Given the description of an element on the screen output the (x, y) to click on. 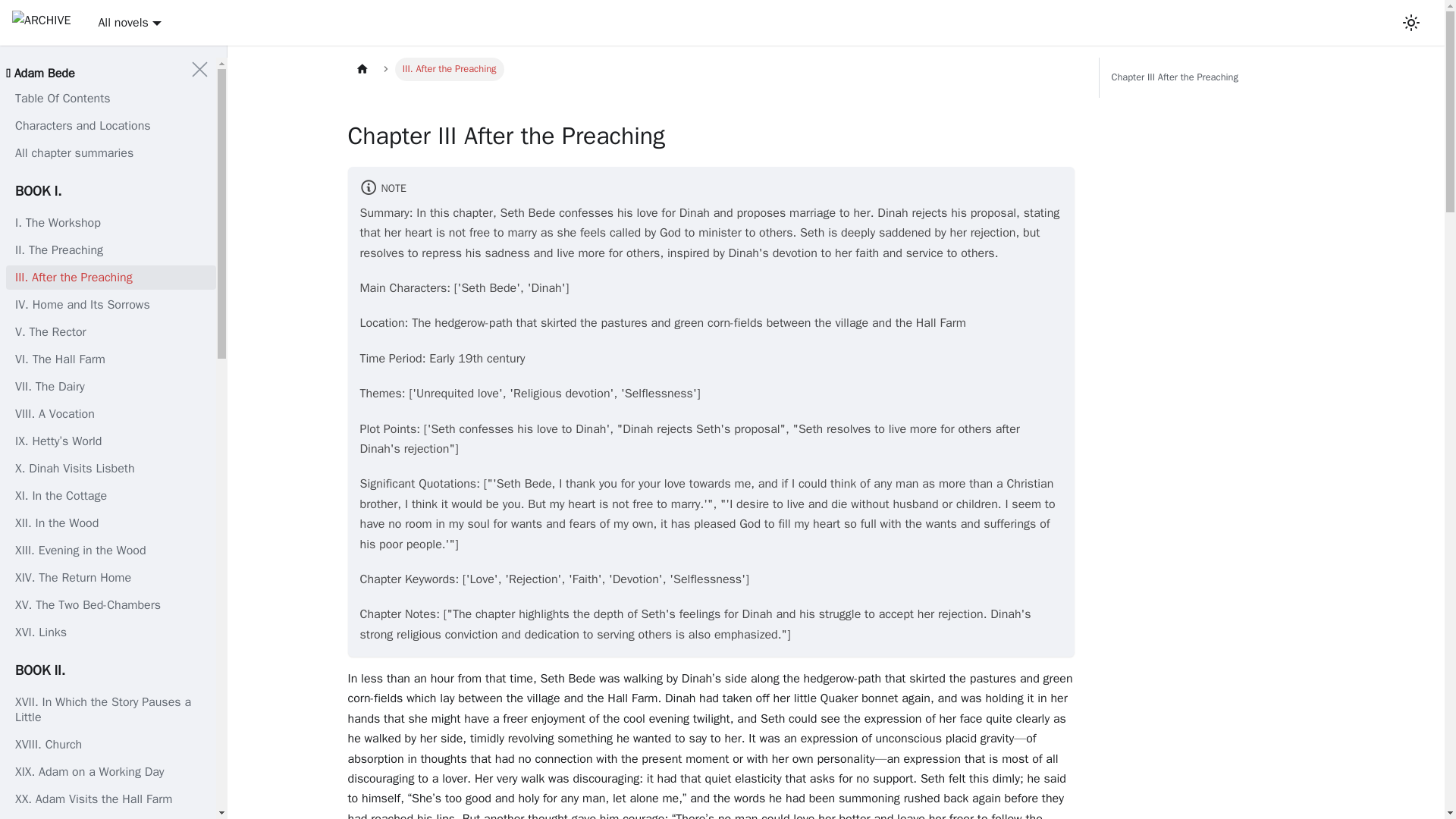
XIII. Evening in the Wood (110, 550)
Table Of Contents (110, 98)
XVII. In Which the Story Pauses a Little (110, 709)
V. The Rector (110, 331)
IV. Home and Its Sorrows (110, 304)
XV. The Two Bed-Chambers (110, 604)
XI. In the Cottage (110, 495)
XVIII. Church (110, 744)
II. The Preaching (110, 250)
Chapter III After the Preaching (1210, 77)
XIV. The Return Home (110, 577)
XX. Adam Visits the Hall Farm (110, 799)
Collapse sidebar (199, 70)
XVI. Links (110, 631)
X. Dinah Visits Lisbeth (110, 468)
